Given the description of an element on the screen output the (x, y) to click on. 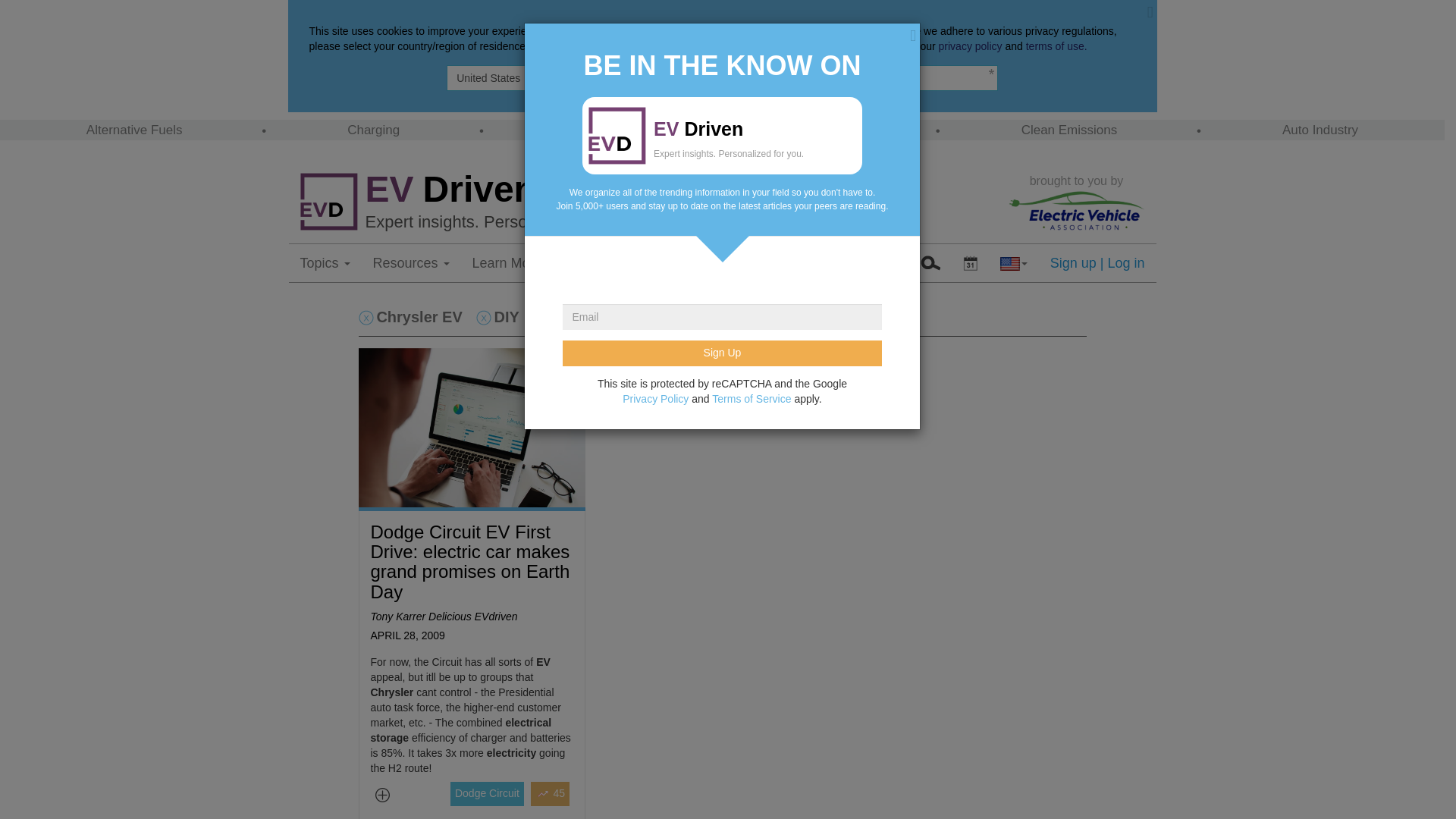
Auto Industry (1320, 129)
Renewable (824, 129)
Renewable (824, 129)
privacy policy (971, 46)
Charging (372, 129)
Sign Up (721, 353)
terms of use. (1056, 46)
Search (930, 262)
Select edition (970, 262)
Select your country (1013, 262)
Production (595, 129)
Auto Industry (1320, 129)
Clean Emissions (1070, 129)
Production (595, 129)
Electric Auto Association (1076, 210)
